Given the description of an element on the screen output the (x, y) to click on. 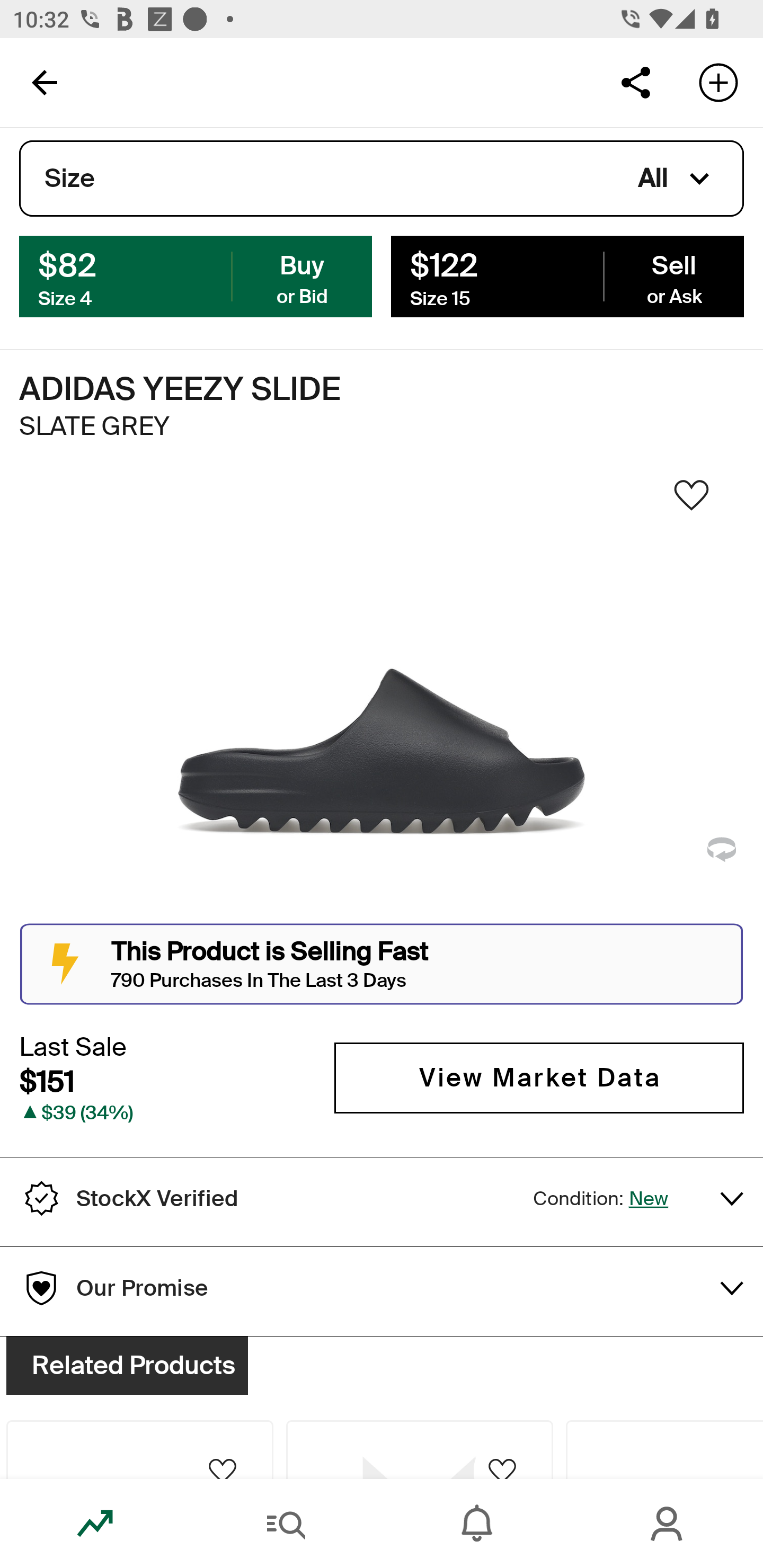
Share (635, 81)
Add (718, 81)
Size All (381, 178)
$82 Buy Size 4 or Bid (195, 275)
$122 Sell Size 15 or Ask (566, 275)
Sneaker Image (381, 699)
View Market Data (538, 1077)
Search (285, 1523)
Inbox (476, 1523)
Account (667, 1523)
